Given the description of an element on the screen output the (x, y) to click on. 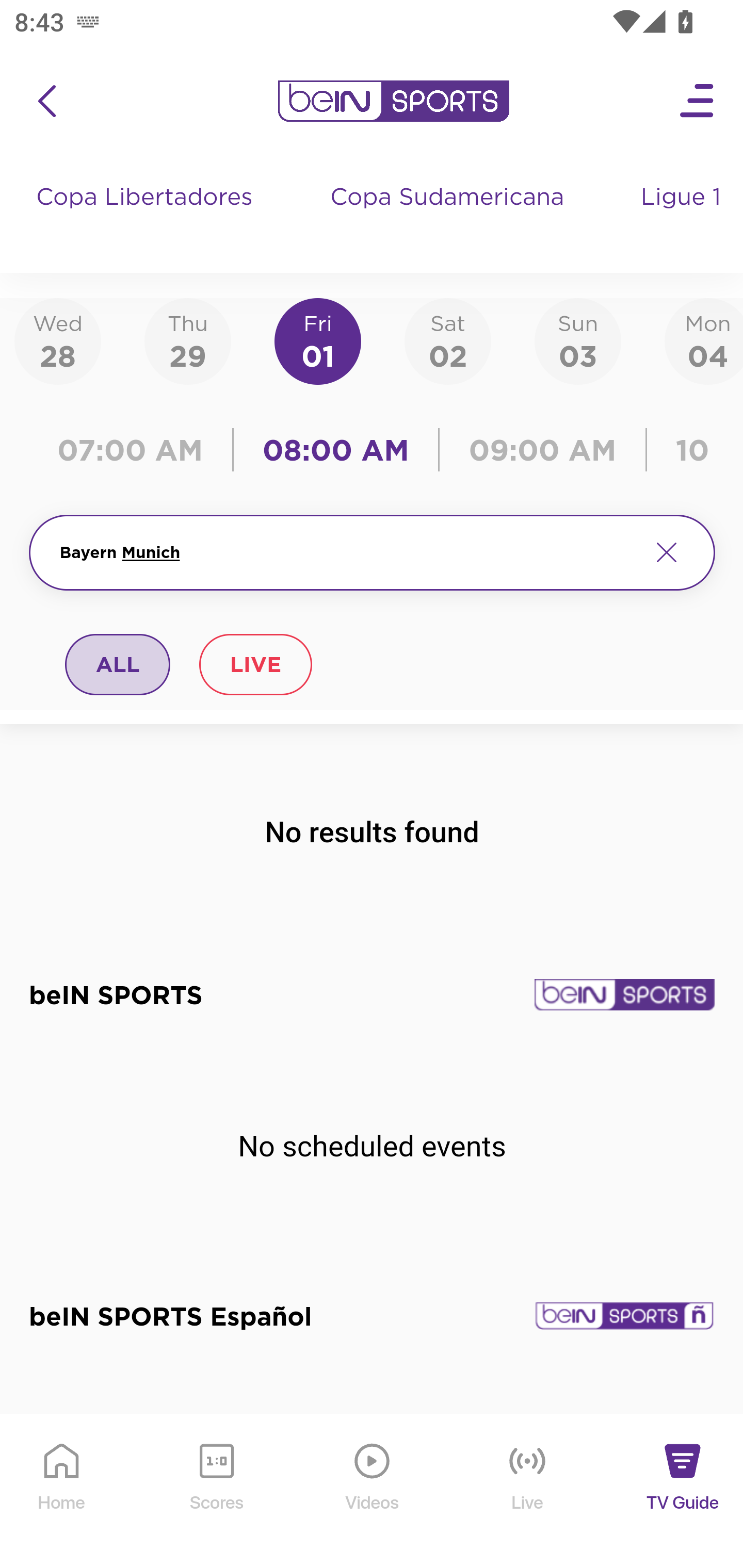
en-us?platform=mobile_android bein logo (392, 101)
icon back (46, 101)
Open Menu Icon (697, 101)
Copa Libertadores (146, 216)
Copa Sudamericana (448, 216)
Ligue 1 (682, 216)
Wed28 (58, 340)
Thu29 (187, 340)
Fri01 (318, 340)
Sat02 (447, 340)
Sun03 (578, 340)
Mon04 (703, 340)
07:00 AM (135, 449)
08:00 AM (336, 449)
09:00 AM (542, 449)
Bayern Munich (346, 552)
ALL (118, 663)
LIVE (255, 663)
Home Home Icon Home (61, 1491)
Scores Scores Icon Scores (216, 1491)
Videos Videos Icon Videos (372, 1491)
TV Guide TV Guide Icon TV Guide (682, 1491)
